Given the description of an element on the screen output the (x, y) to click on. 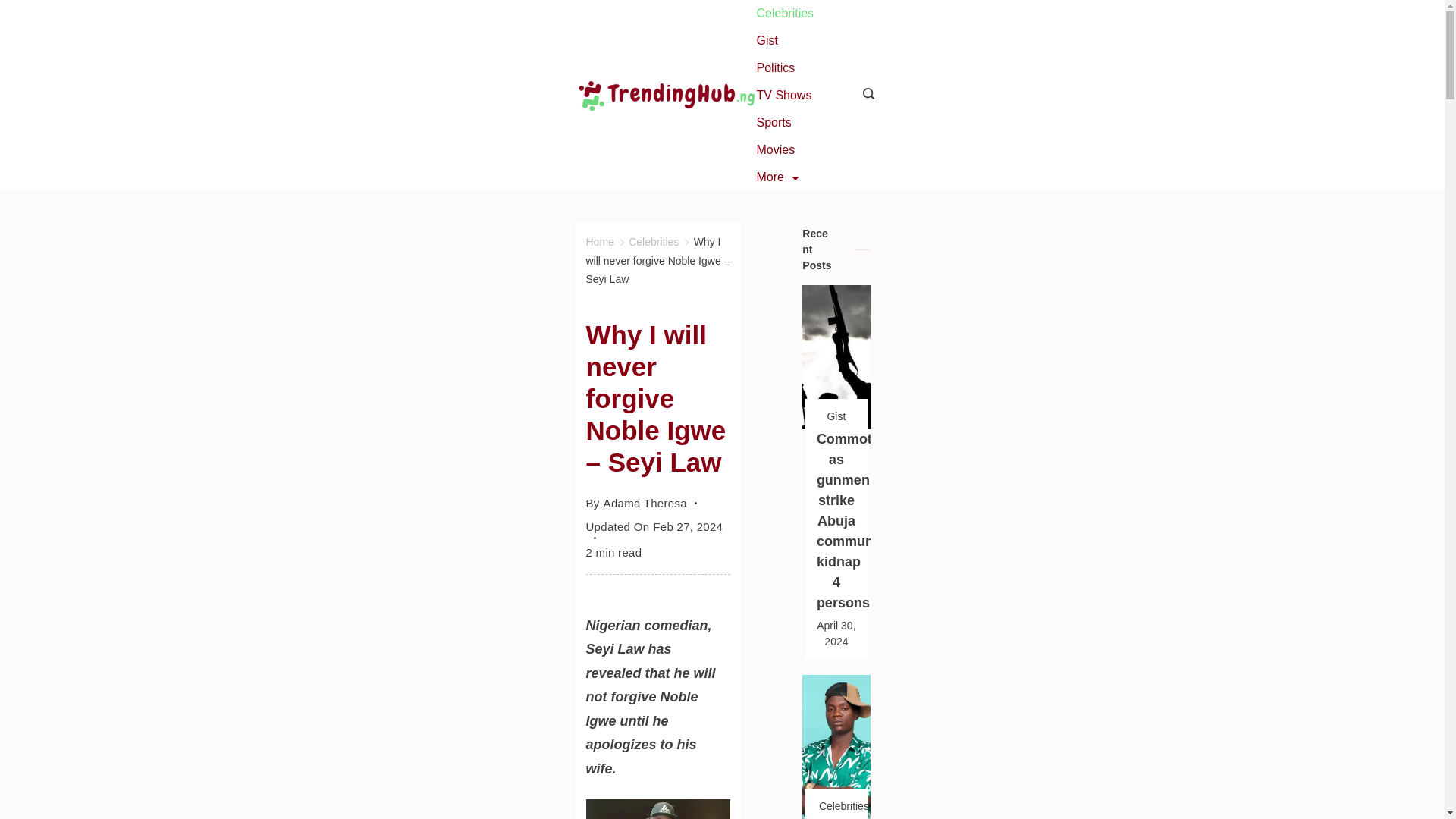
Politics (774, 67)
Gist (766, 40)
TV Shows (782, 94)
Celebrities (653, 241)
Movies (774, 149)
More (776, 176)
Sports (772, 122)
Celebrities (784, 13)
Home (598, 241)
